Given the description of an element on the screen output the (x, y) to click on. 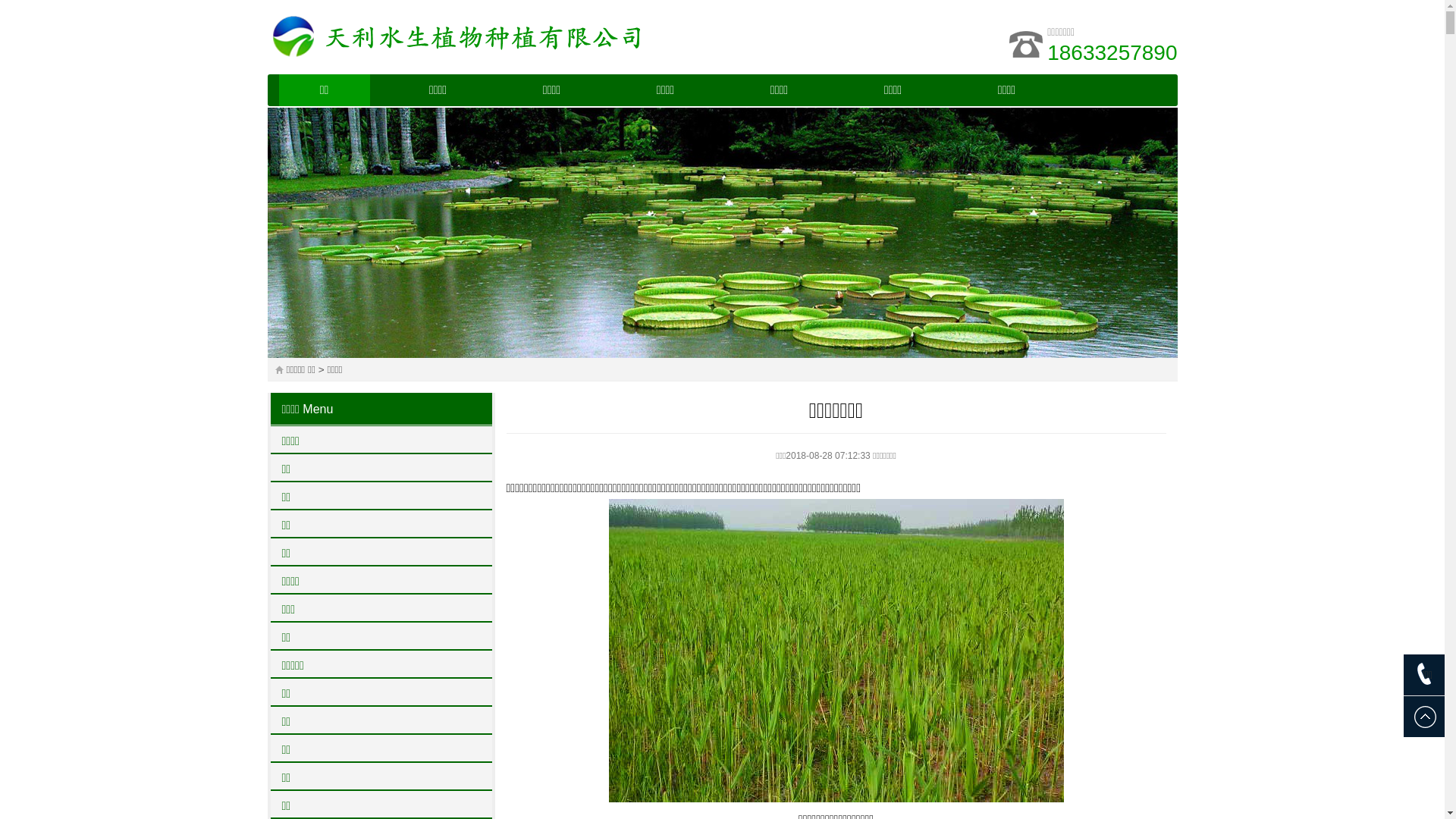
18633257890 Element type: text (1111, 52)
